Given the description of an element on the screen output the (x, y) to click on. 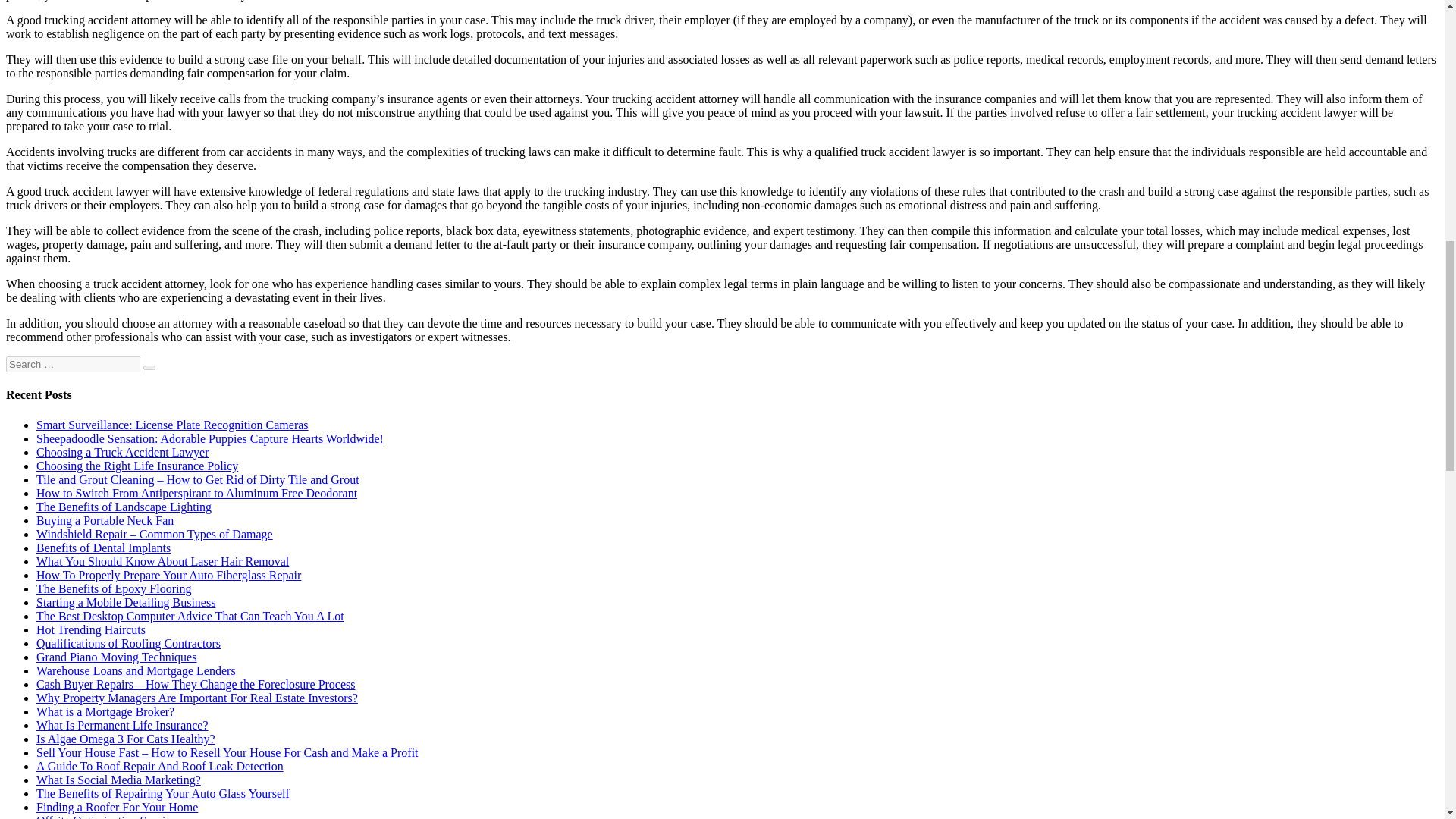
What You Should Know About Laser Hair Removal (162, 561)
Choosing a Truck Accident Lawyer (122, 451)
The Best Desktop Computer Advice That Can Teach You A Lot (189, 615)
Hot Trending Haircuts (90, 629)
What is a Mortgage Broker? (105, 711)
Warehouse Loans and Mortgage Lenders (135, 670)
Buying a Portable Neck Fan (104, 520)
Smart Surveillance: License Plate Recognition Cameras (172, 424)
Search (148, 367)
Choosing the Right Life Insurance Policy (137, 465)
Is Algae Omega 3 For Cats Healthy? (125, 738)
Grand Piano Moving Techniques (116, 656)
How To Properly Prepare Your Auto Fiberglass Repair (168, 574)
